Given the description of an element on the screen output the (x, y) to click on. 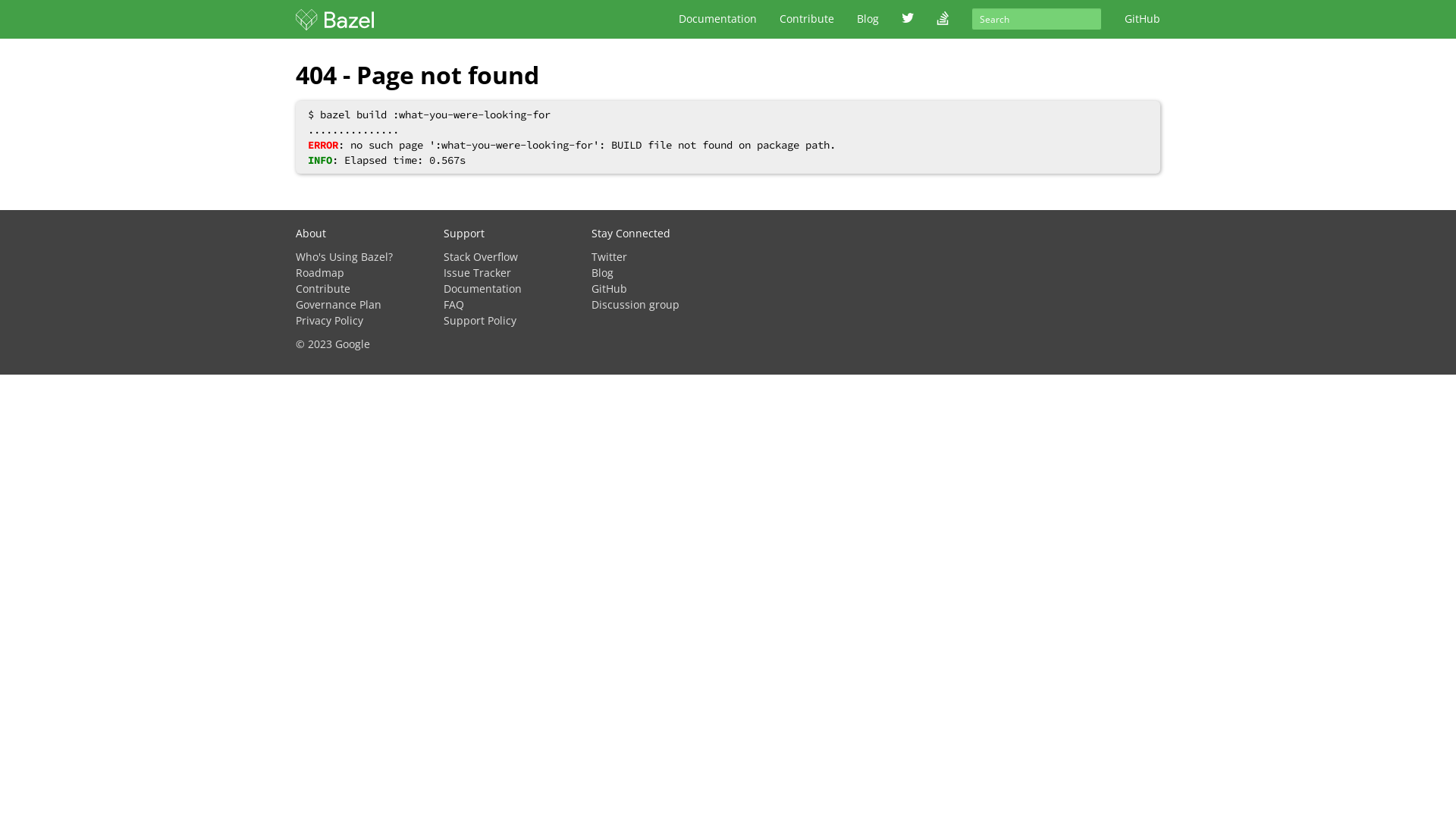
Contribute Element type: text (806, 18)
Twitter Element type: text (609, 256)
Discussion group Element type: text (635, 304)
Documentation Element type: text (717, 18)
Who's Using Bazel? Element type: text (343, 256)
Blog Element type: text (602, 272)
GitHub Element type: text (1142, 18)
GitHub Element type: text (609, 288)
Roadmap Element type: text (319, 272)
Privacy Policy Element type: text (329, 320)
Support Policy Element type: text (479, 320)
Stack Overflow Element type: text (480, 256)
FAQ Element type: text (453, 304)
Documentation Element type: text (482, 288)
Governance Plan Element type: text (338, 304)
Blog Element type: text (867, 18)
Issue Tracker Element type: text (477, 272)
Contribute Element type: text (322, 288)
